Given the description of an element on the screen output the (x, y) to click on. 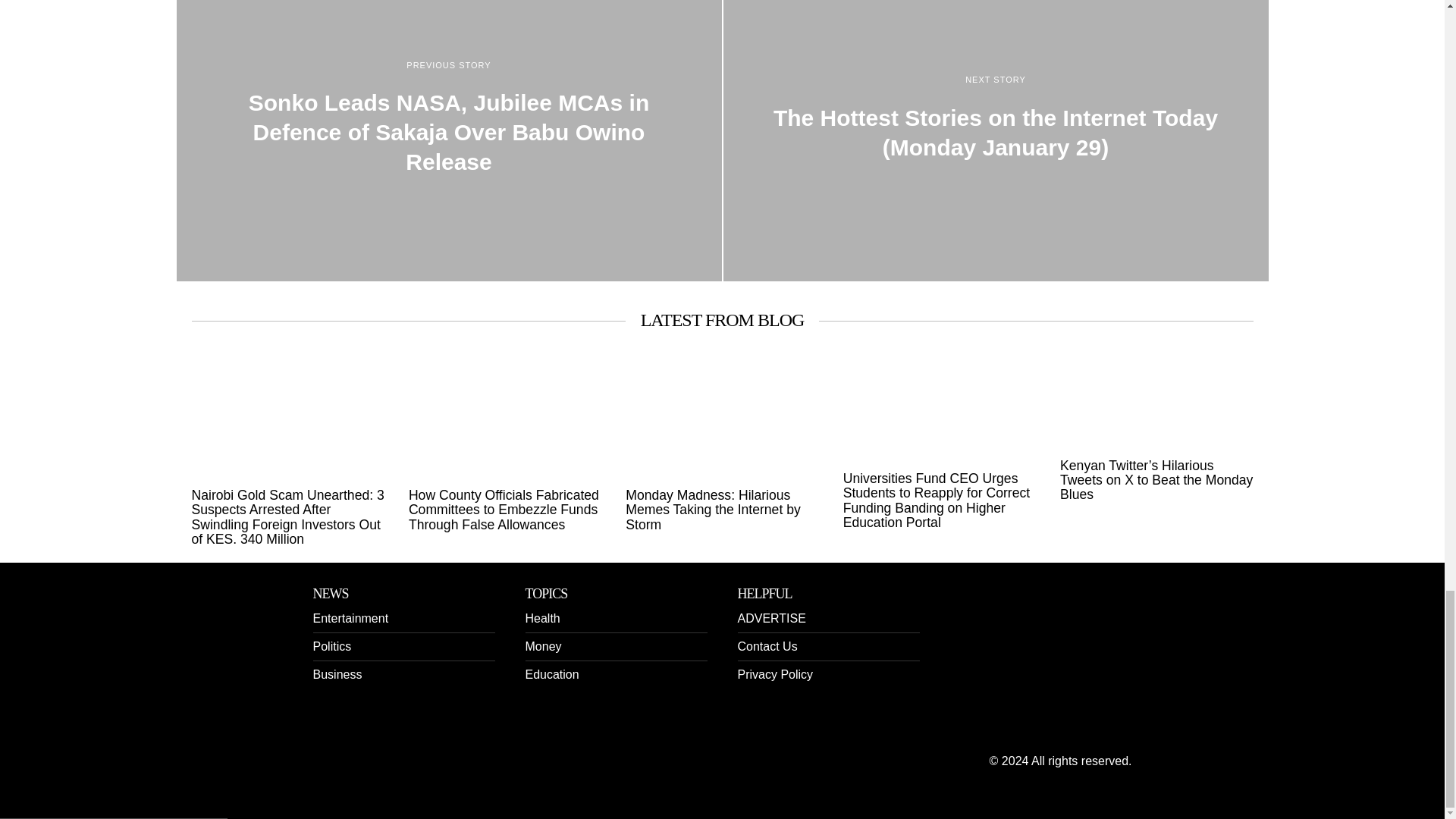
Monday Madness: Hilarious Memes Taking the Internet by Storm (722, 510)
Politics (331, 645)
Entertainment (350, 617)
Health (541, 617)
Business (337, 674)
